Given the description of an element on the screen output the (x, y) to click on. 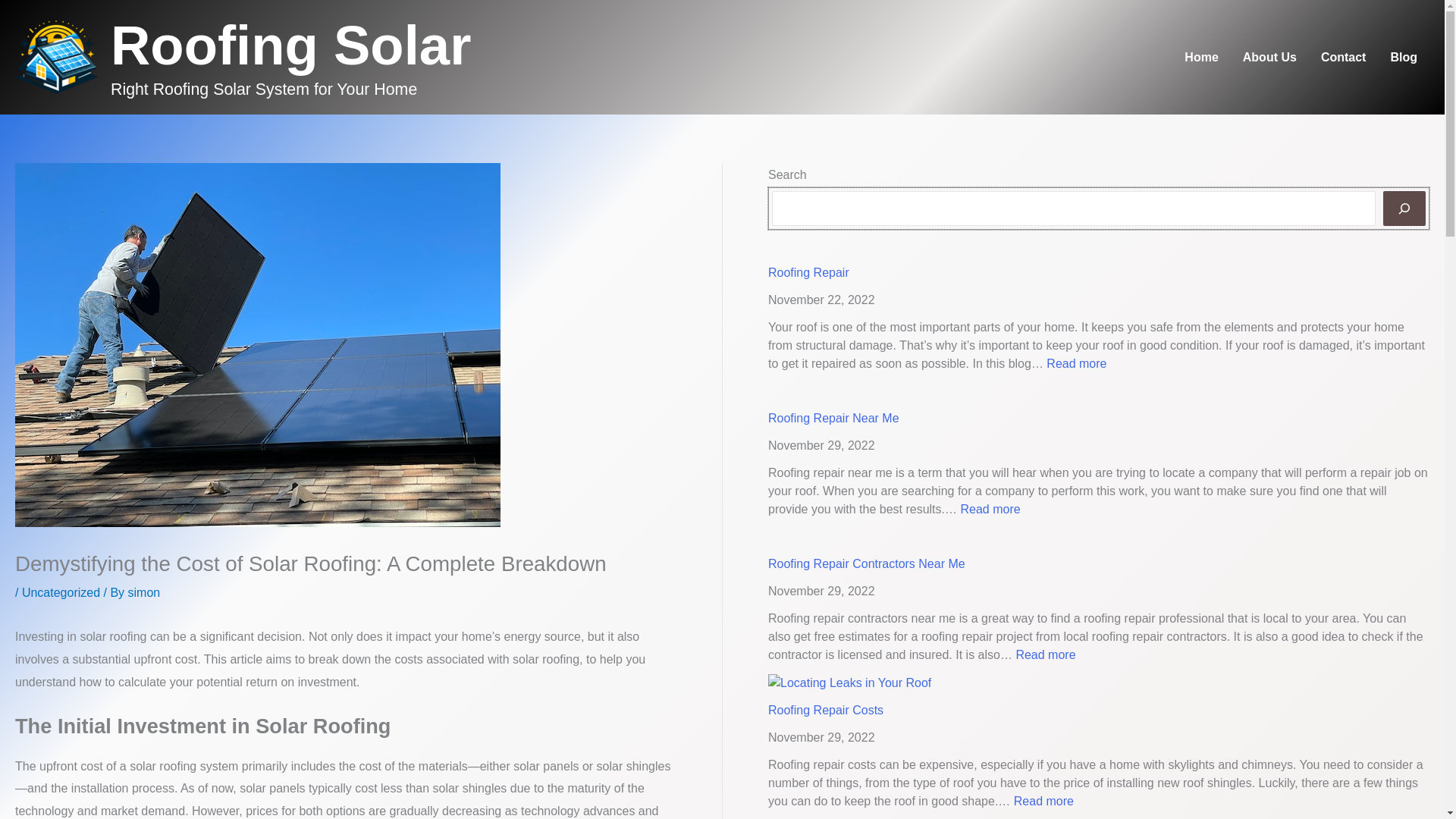
Roofing Repair Near Me (1044, 654)
Roofing Solar (1043, 800)
Roofing Repair Contractors Near Me (833, 418)
Home (290, 45)
simon (866, 563)
Roofing Repair (1201, 56)
Uncategorized (144, 592)
Roofing Repair Costs (808, 272)
View all posts by simon (60, 592)
Blog (825, 709)
About Us (144, 592)
